Given the description of an element on the screen output the (x, y) to click on. 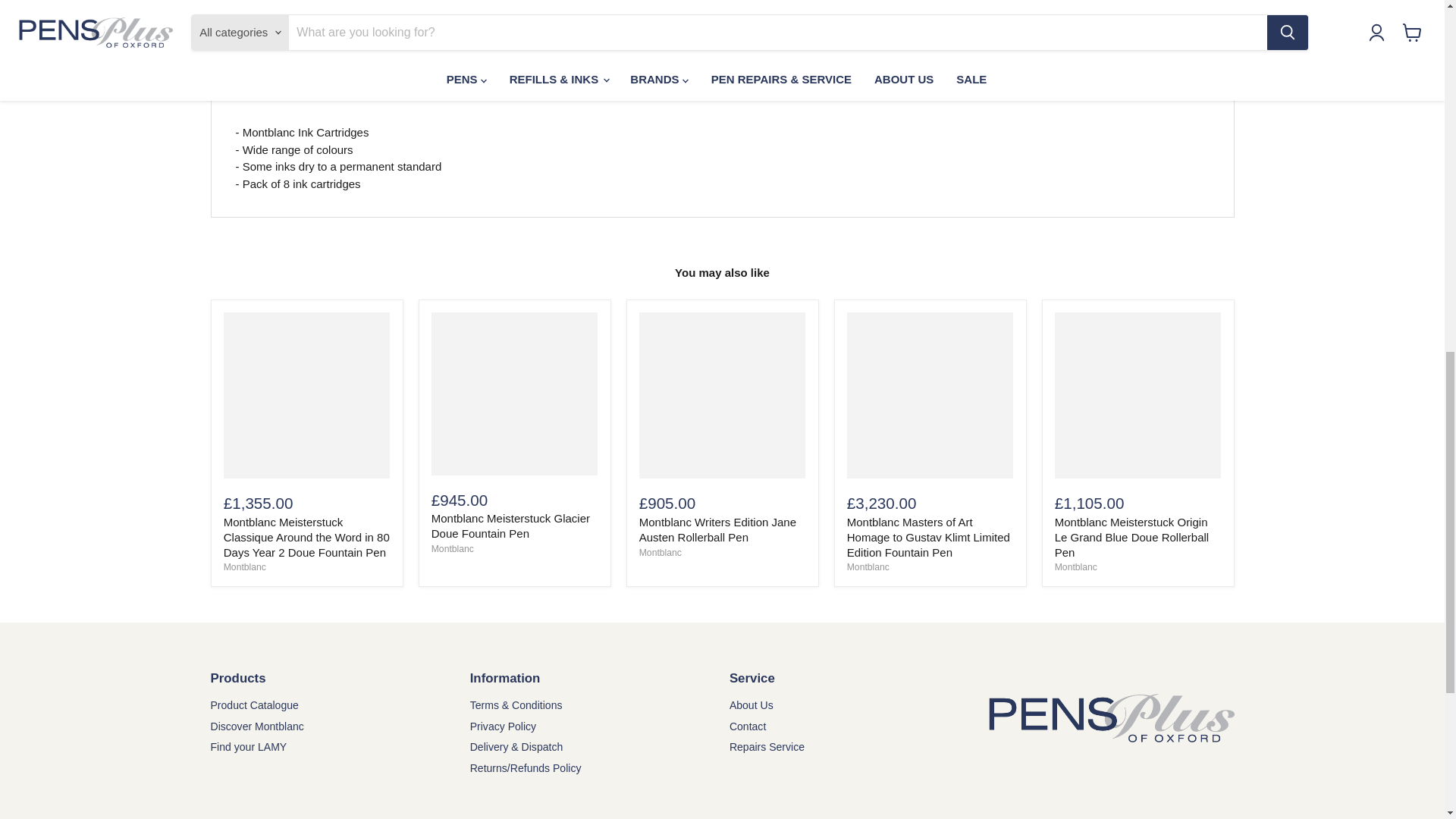
Montblanc (245, 566)
Montblanc (868, 566)
Montblanc (452, 548)
Montblanc (660, 552)
Montblanc (1075, 566)
